Given the description of an element on the screen output the (x, y) to click on. 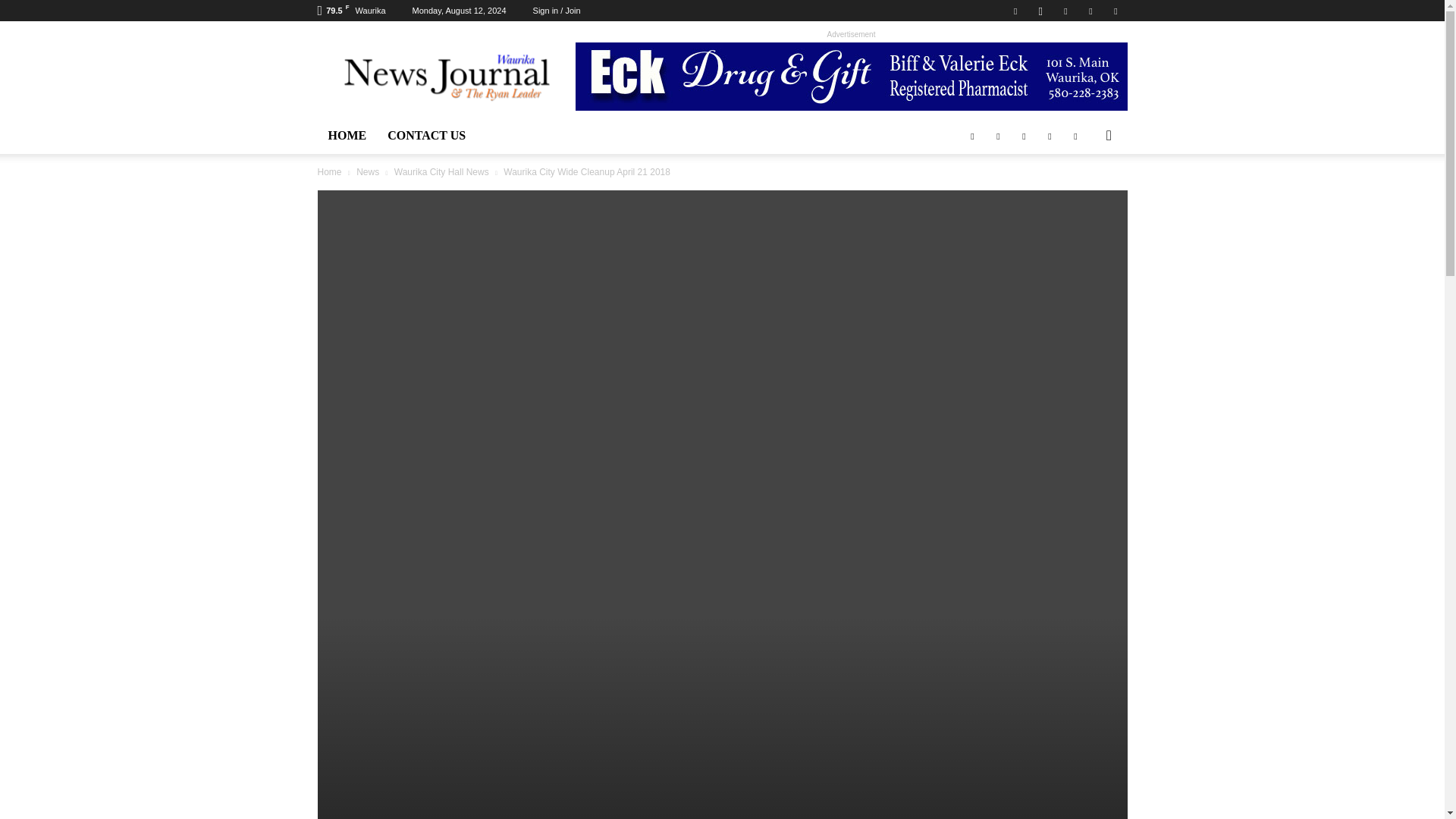
Youtube (1114, 10)
Vimeo (1090, 10)
View all posts in News (367, 172)
Facebook (1015, 10)
Instagram (1040, 10)
Twitter (1065, 10)
